Given the description of an element on the screen output the (x, y) to click on. 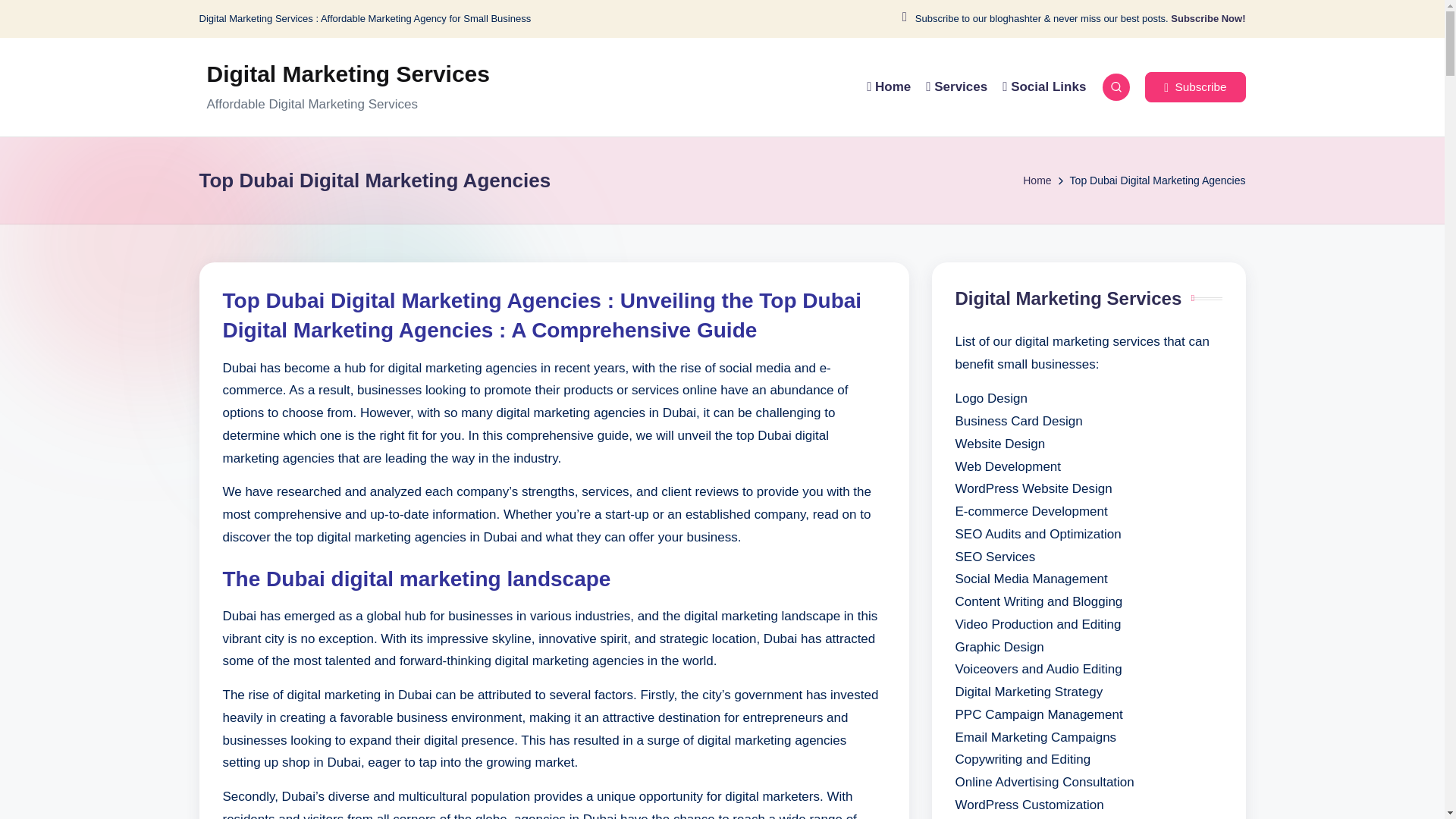
Subscribe (1194, 87)
Digital Marketing Services (347, 74)
Home (1037, 180)
Subscribe Now! (1207, 18)
